Given the description of an element on the screen output the (x, y) to click on. 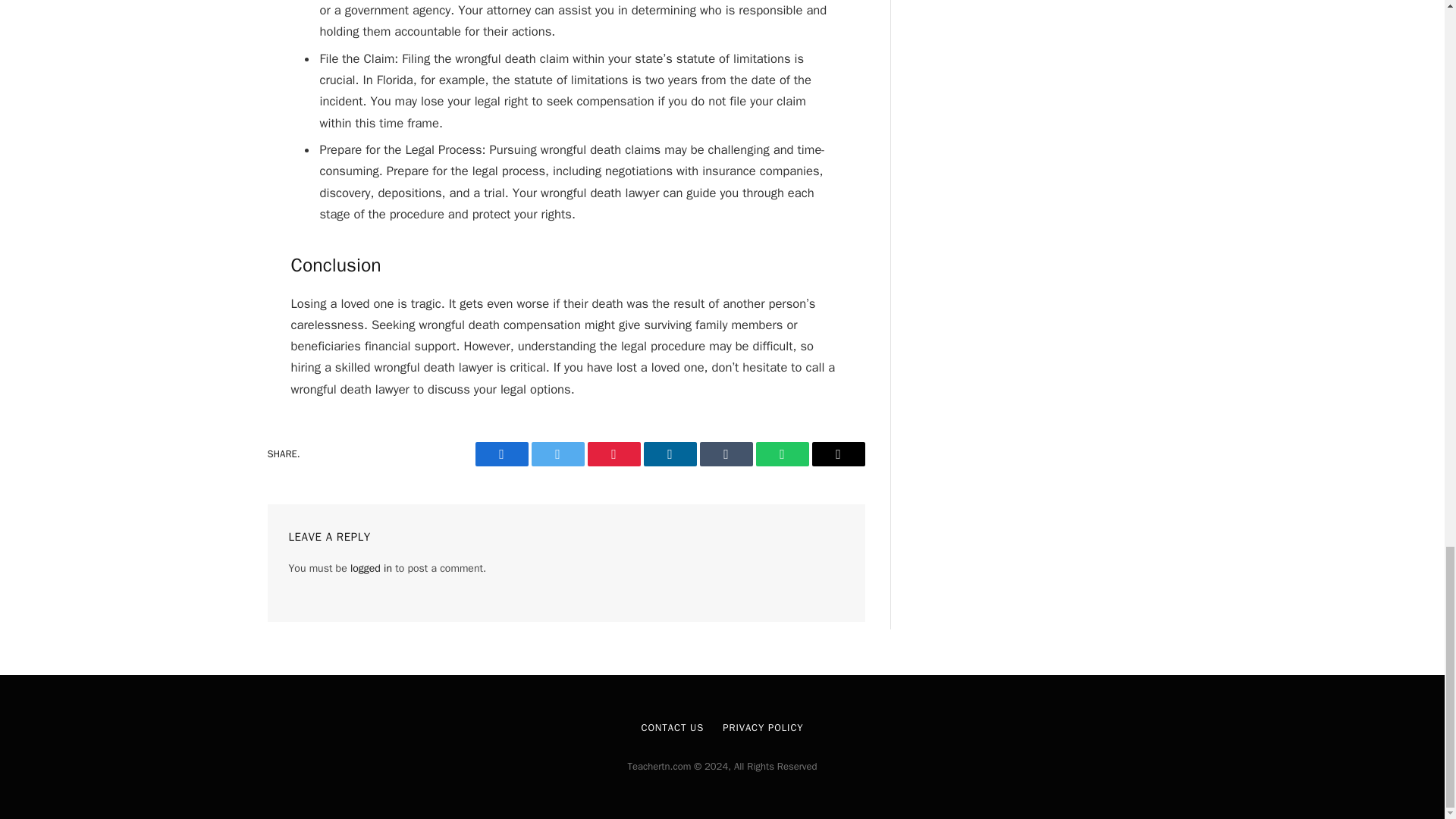
Pinterest (613, 454)
Twitter (557, 454)
Facebook (500, 454)
